Given the description of an element on the screen output the (x, y) to click on. 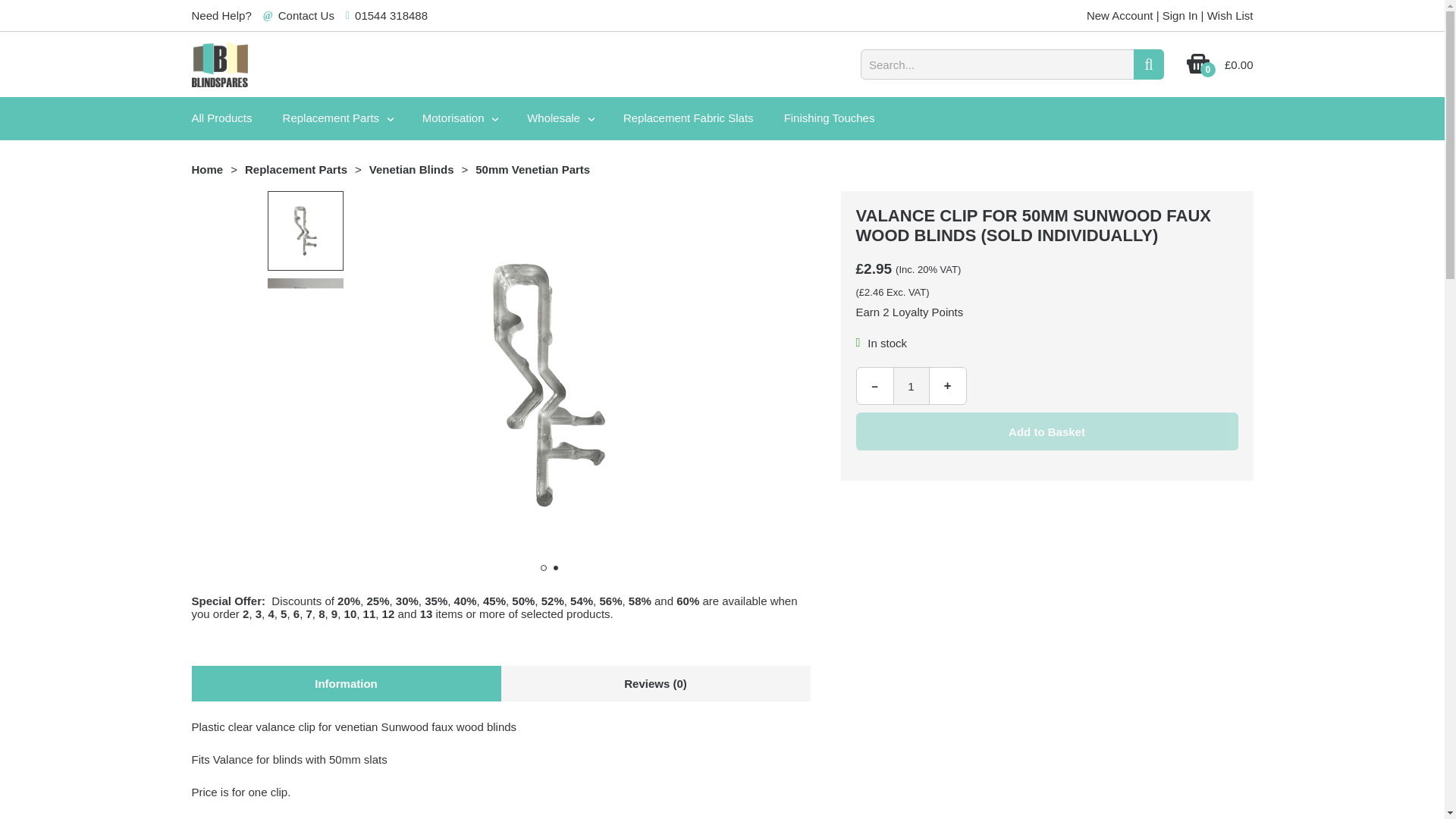
0 (1197, 69)
Contact Us (306, 15)
Motorisation (459, 118)
New Account (1119, 15)
Wish List (1230, 15)
01544 318488 (391, 15)
Replacement Parts (337, 118)
Sign In (1179, 15)
All Products (221, 117)
Wholesale (560, 118)
